Given the description of an element on the screen output the (x, y) to click on. 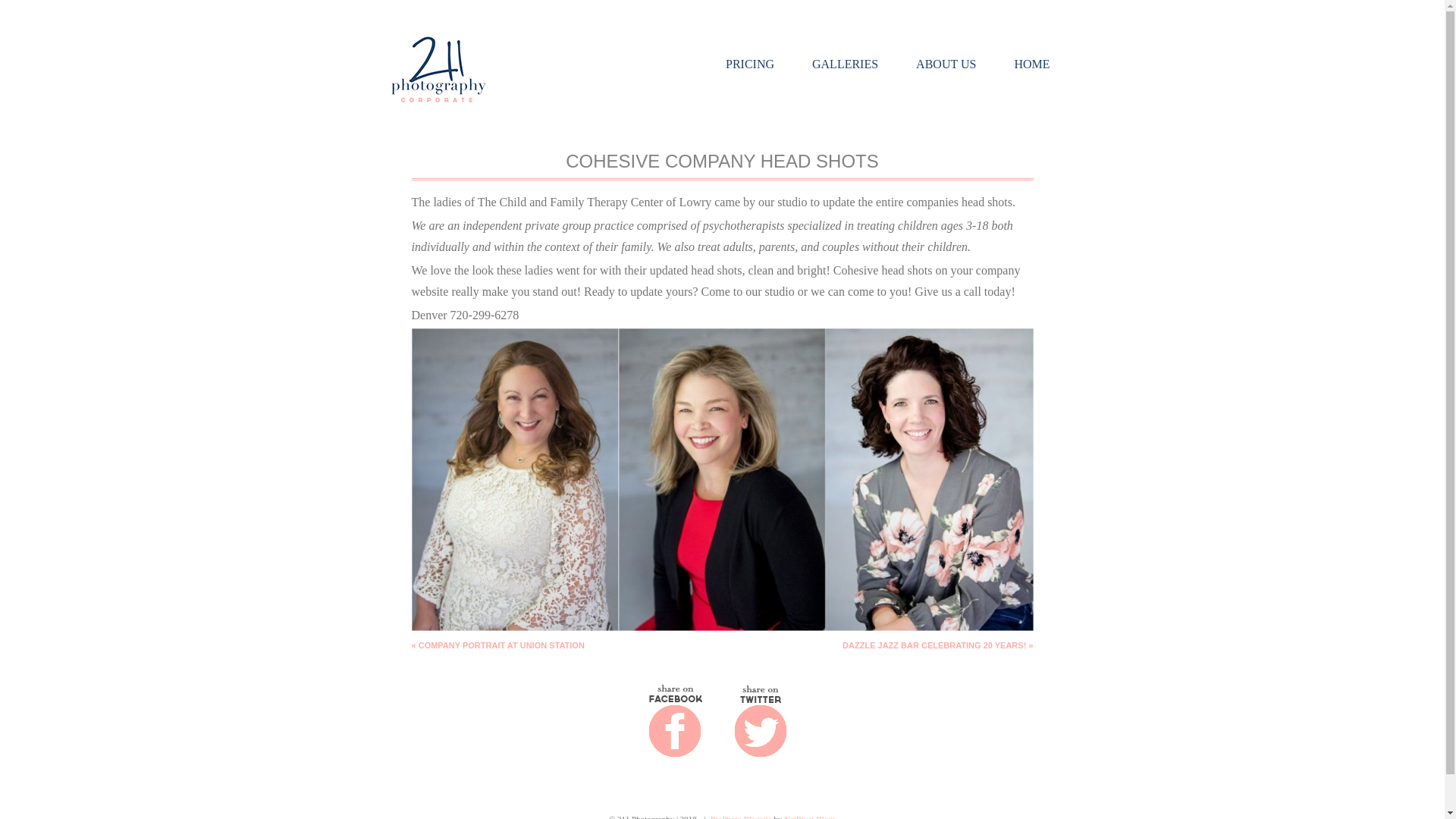
ABOUT US Element type: text (945, 64)
PRICING Element type: text (749, 64)
GALLERIES Element type: text (845, 64)
HOME Element type: text (1031, 64)
211corporatephotography Element type: hover (437, 103)
